Given the description of an element on the screen output the (x, y) to click on. 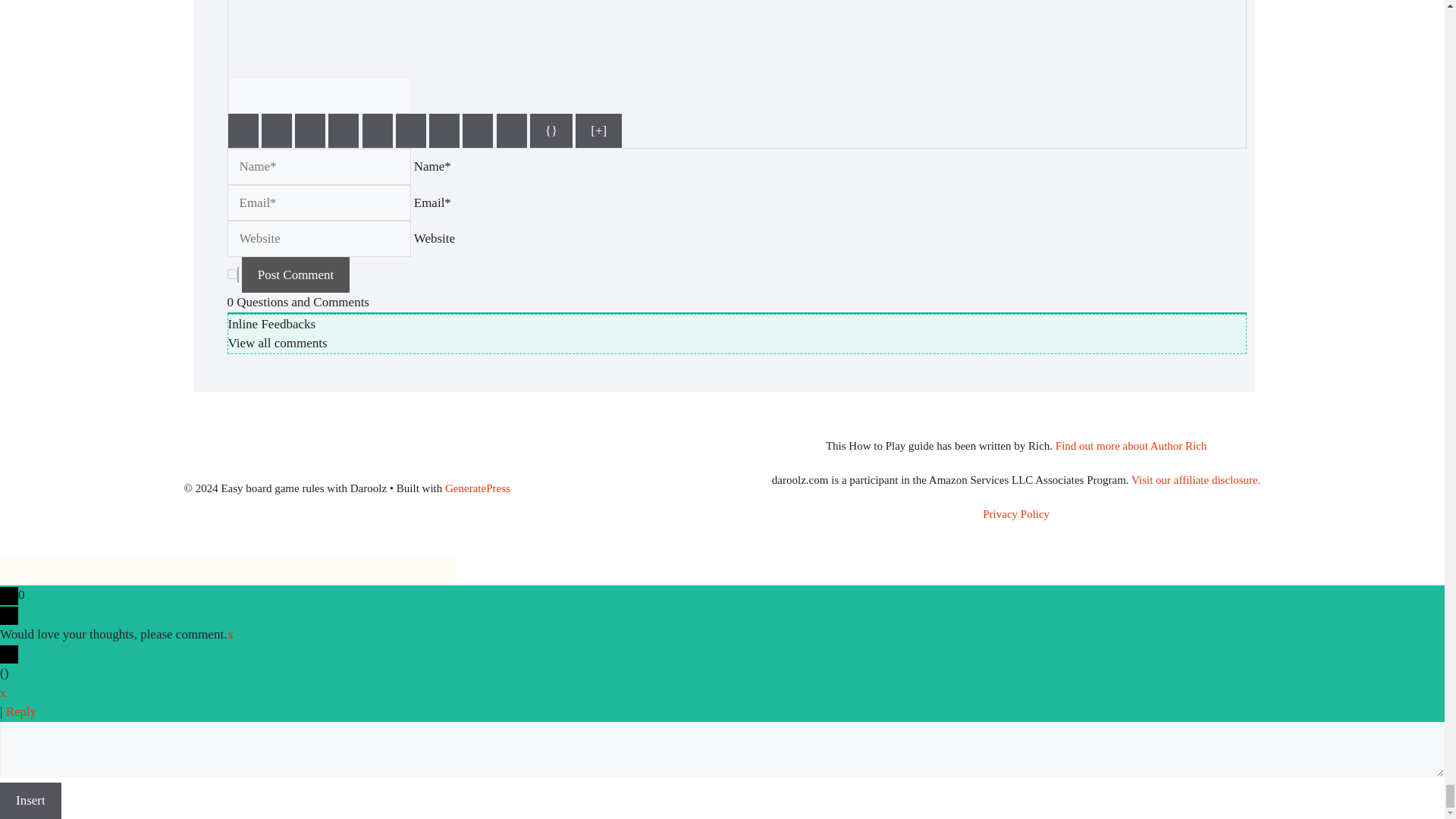
comment (232, 273)
Post Comment (295, 274)
